Given the description of an element on the screen output the (x, y) to click on. 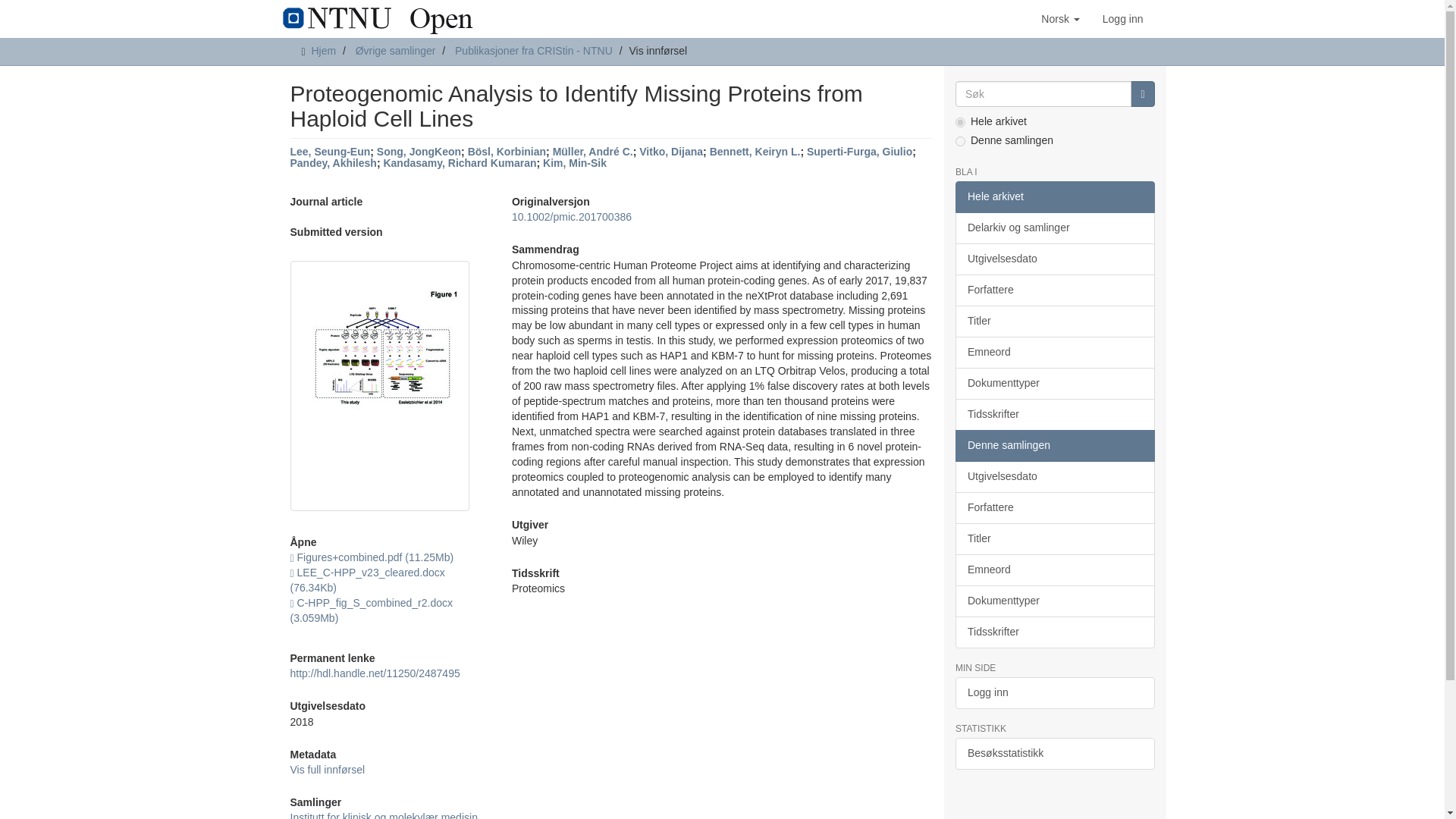
Hjem (323, 50)
Kandasamy, Richard Kumaran (458, 162)
Norsk  (1059, 18)
Publikasjoner fra CRIStin - NTNU (533, 50)
Song, JongKeon (419, 151)
Kim, Min-Sik (575, 162)
Bennett, Keiryn L. (755, 151)
Lee, Seung-Eun (329, 151)
Vitko, Dijana (671, 151)
Logg inn (1122, 18)
